Given the description of an element on the screen output the (x, y) to click on. 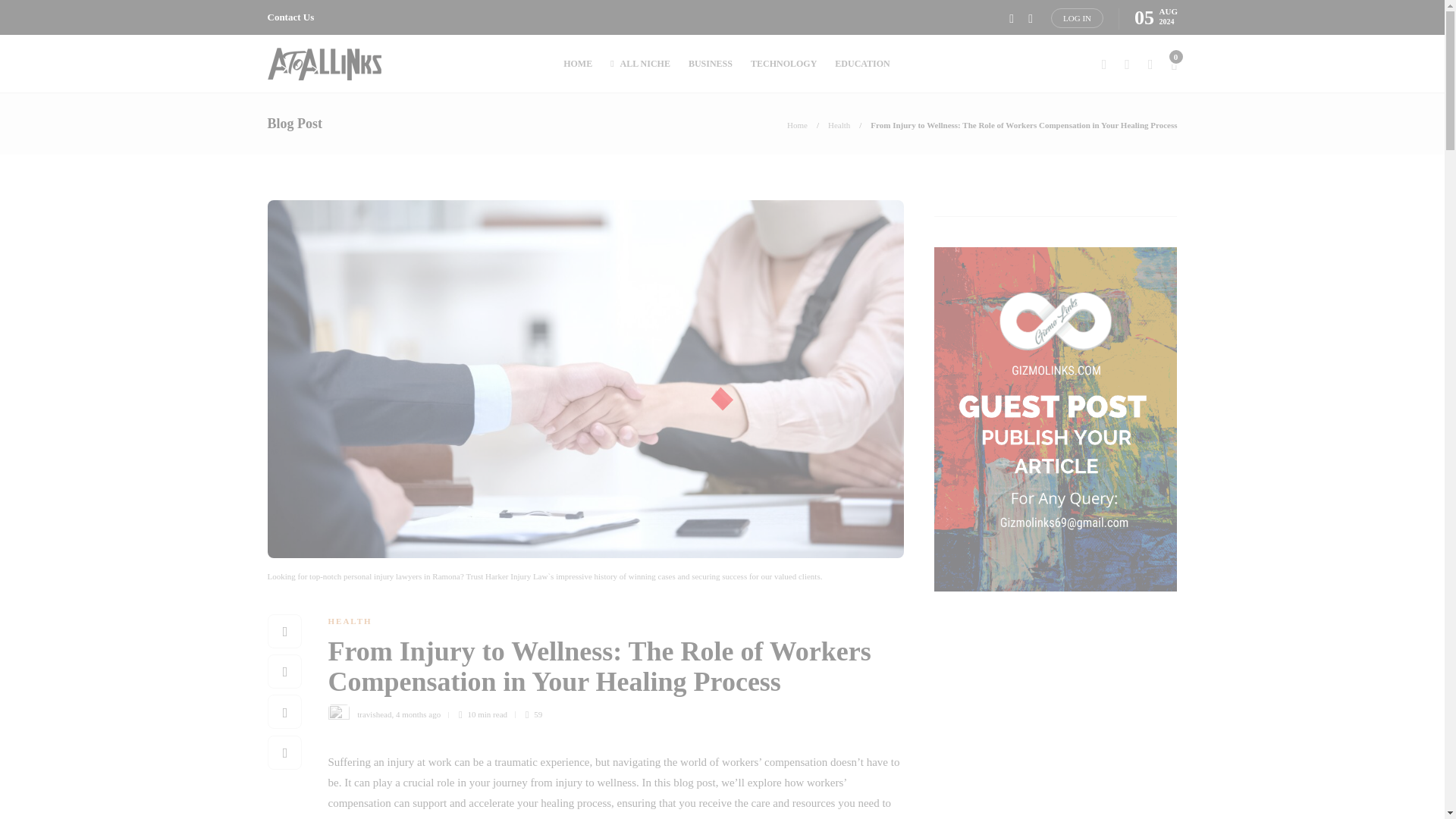
ALL NICHE (639, 63)
BUSINESS (710, 63)
LOG IN (1077, 17)
Home (797, 124)
travishead (373, 714)
Contact Us (290, 17)
TECHNOLOGY (783, 63)
0 (1173, 63)
Home (797, 124)
EDUCATION (861, 63)
Health (839, 124)
HEALTH (349, 620)
HOME (577, 63)
